Given the description of an element on the screen output the (x, y) to click on. 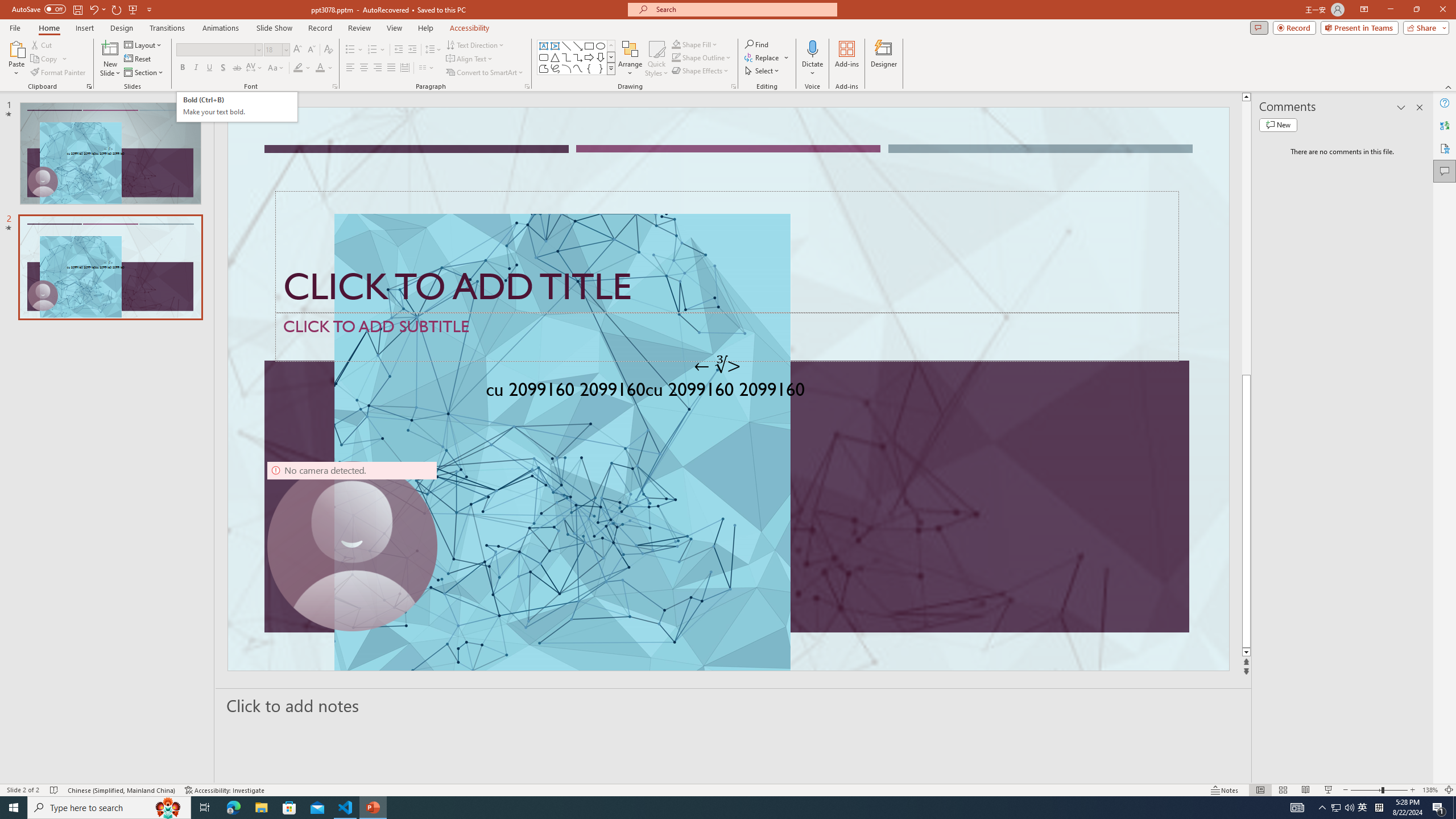
Designer (883, 58)
Spell Check No Errors (54, 790)
Font Size (273, 49)
Paragraph... (526, 85)
Bold (182, 67)
Change Case (276, 67)
Shape Outline (701, 56)
Text Highlight Color (302, 67)
Strikethrough (237, 67)
Shape Effects (700, 69)
Slide Notes (733, 705)
Left Brace (589, 68)
Zoom (1379, 790)
Ribbon Display Options (1364, 9)
